Given the description of an element on the screen output the (x, y) to click on. 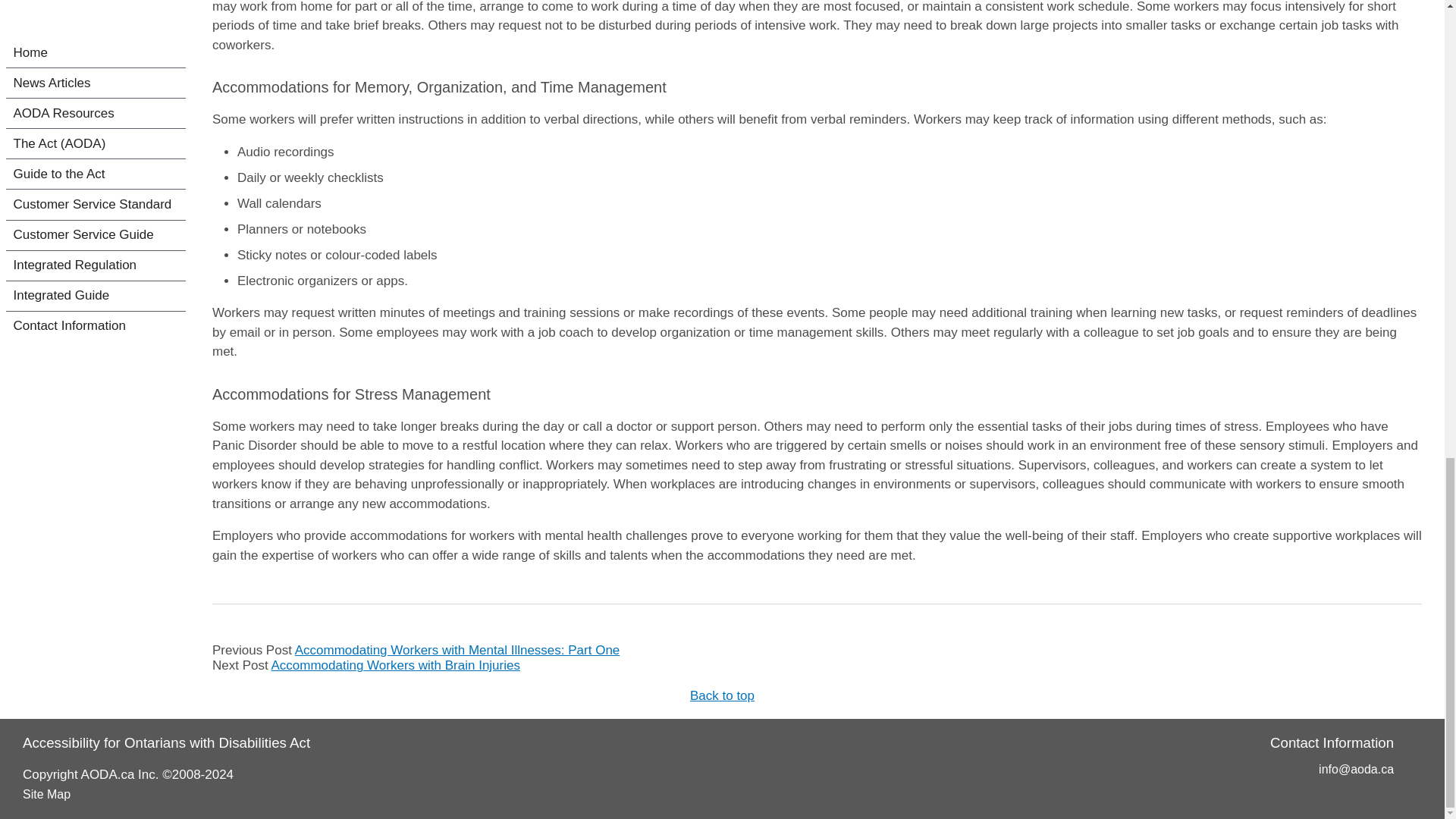
Site Map (46, 793)
Accommodating Workers with Mental Illnesses: Part One (457, 649)
Back to top (722, 695)
Accommodating Workers with Brain Injuries (394, 665)
